Given the description of an element on the screen output the (x, y) to click on. 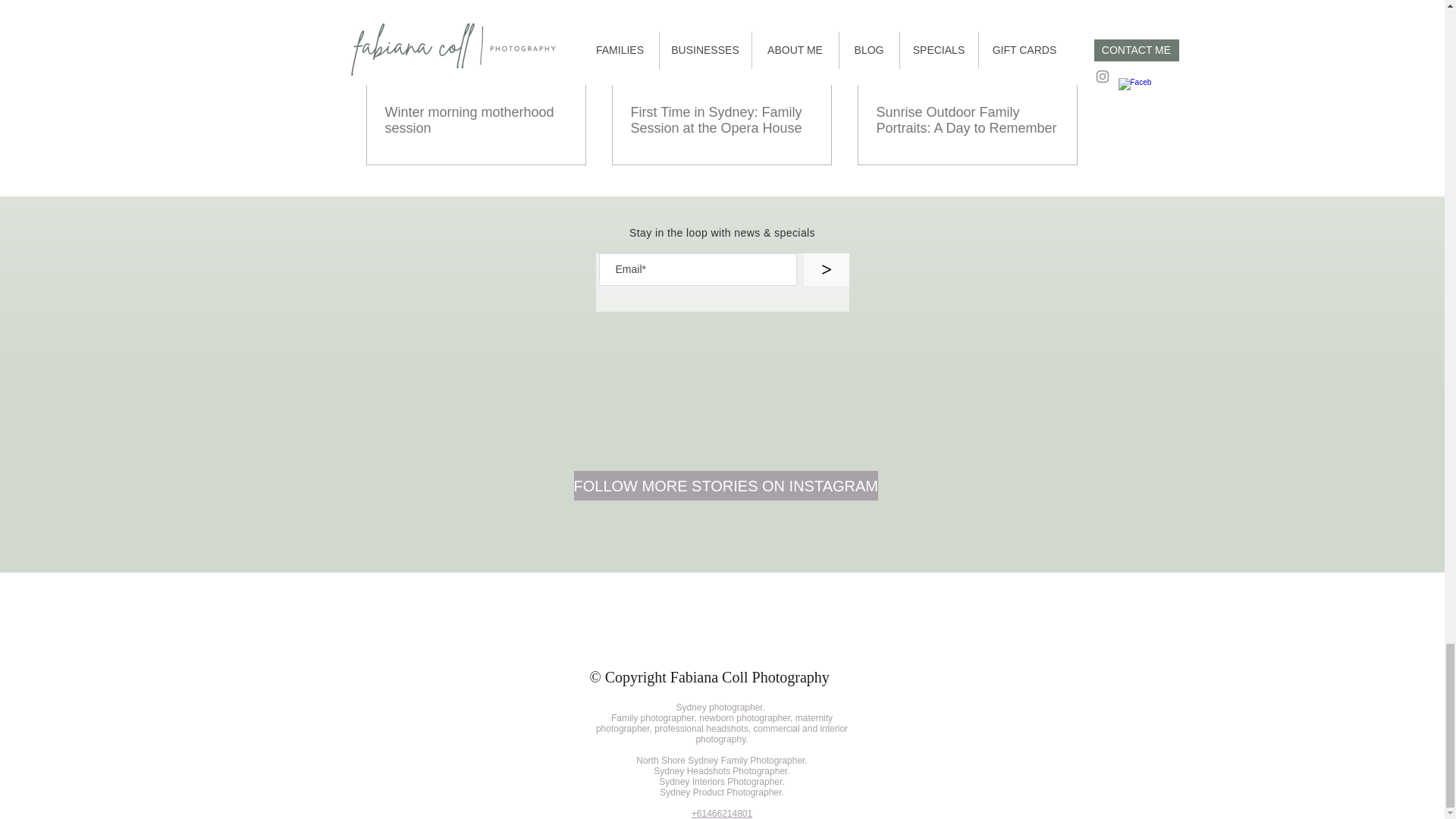
First Time in Sydney: Family Session at the Opera House (721, 120)
FOLLOW MORE STORIES ON INSTAGRAM (725, 485)
Winter morning motherhood session  (476, 120)
Sunrise Outdoor Family Portraits: A Day to Remember (967, 120)
